Given the description of an element on the screen output the (x, y) to click on. 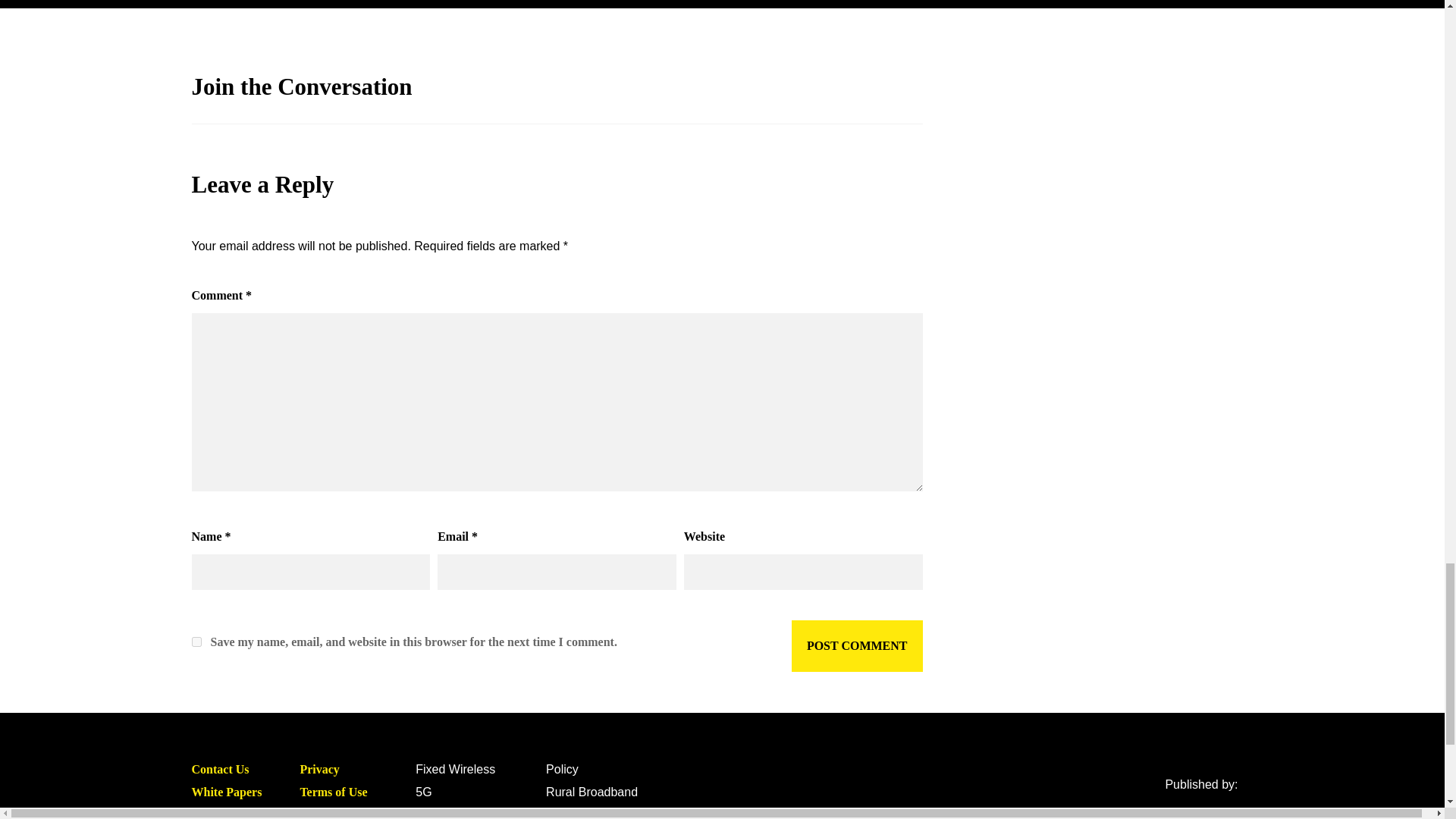
Post Comment (857, 645)
yes (195, 642)
